Given the description of an element on the screen output the (x, y) to click on. 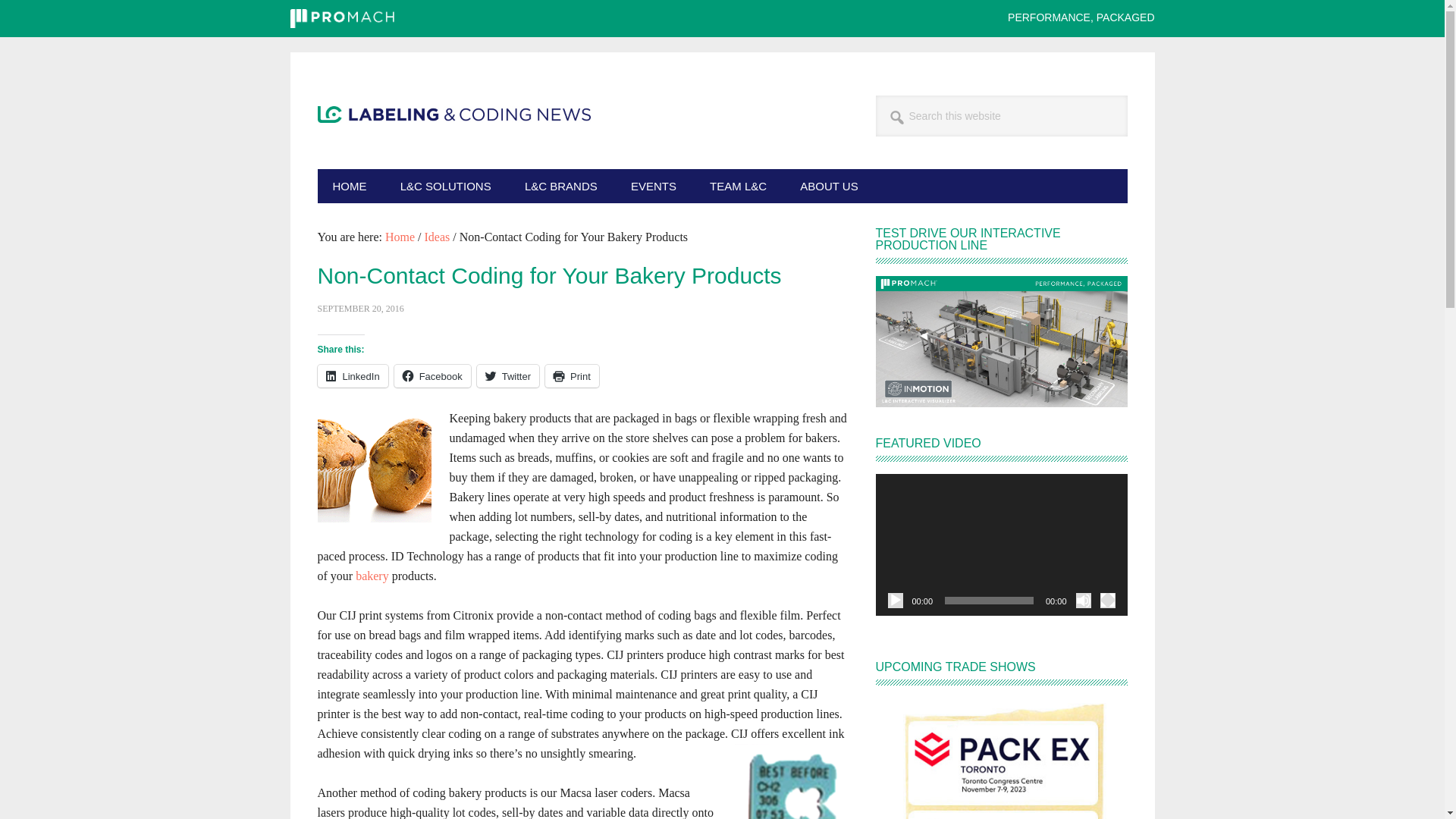
LinkedIn (352, 374)
Click to share on Facebook (432, 374)
Ideas (437, 236)
HOME (349, 185)
Facebook (432, 374)
Home (399, 236)
Mute (1082, 600)
bakery (371, 574)
Labeling News (453, 234)
Fullscreen (1107, 600)
EVENTS (653, 185)
Play (894, 600)
Twitter (507, 374)
